Given the description of an element on the screen output the (x, y) to click on. 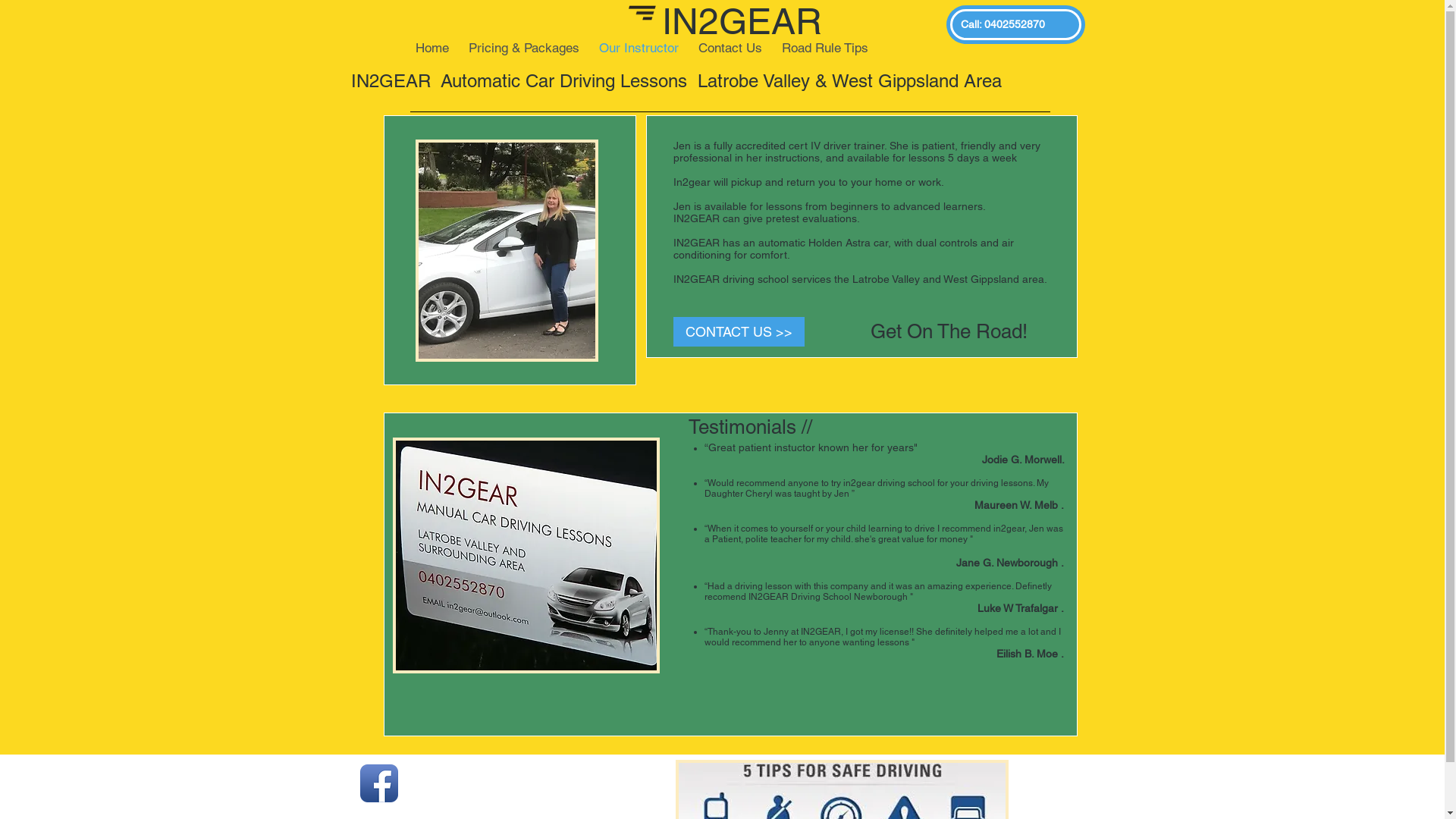
Home Element type: text (431, 45)
Contact Us Element type: text (729, 45)
Facebook Like Element type: hover (502, 782)
Lessons  Element type: hover (506, 250)
Our Instructor Element type: text (637, 45)
Pricing & Packages Element type: text (523, 45)
Road Rule Tips Element type: text (824, 45)
CONTACT US >> Element type: text (738, 331)
IN2GEAR Manual Car Driving  Element type: hover (525, 555)
